Given the description of an element on the screen output the (x, y) to click on. 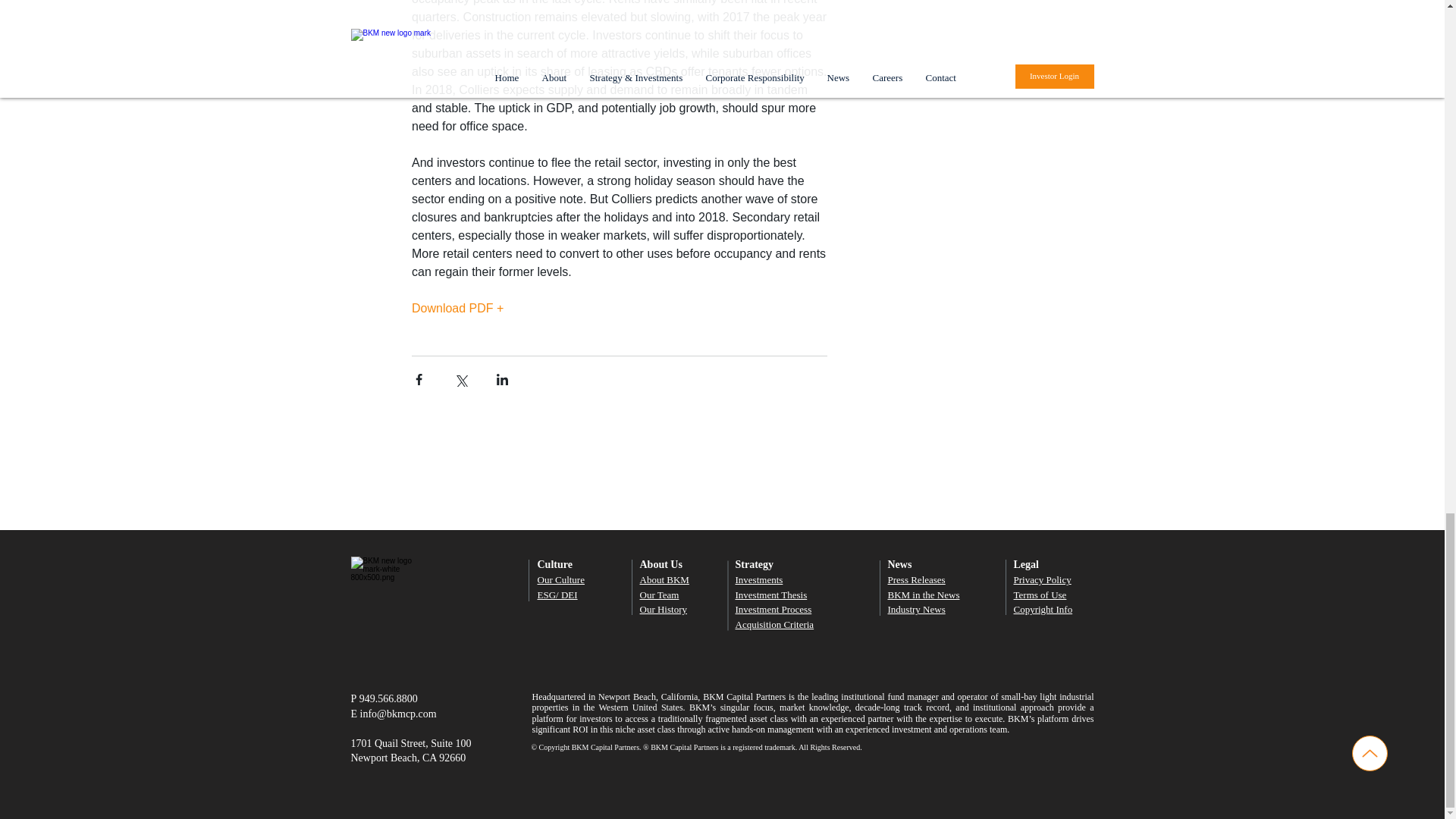
Our Culture (560, 579)
Investment Thesis (771, 594)
BKM in the News (922, 594)
Our History (663, 609)
Investments (759, 579)
Press Releases (915, 579)
Our Team (659, 594)
Acquisition Criteria (774, 624)
Investment Process (773, 609)
About BKM (664, 579)
